Given the description of an element on the screen output the (x, y) to click on. 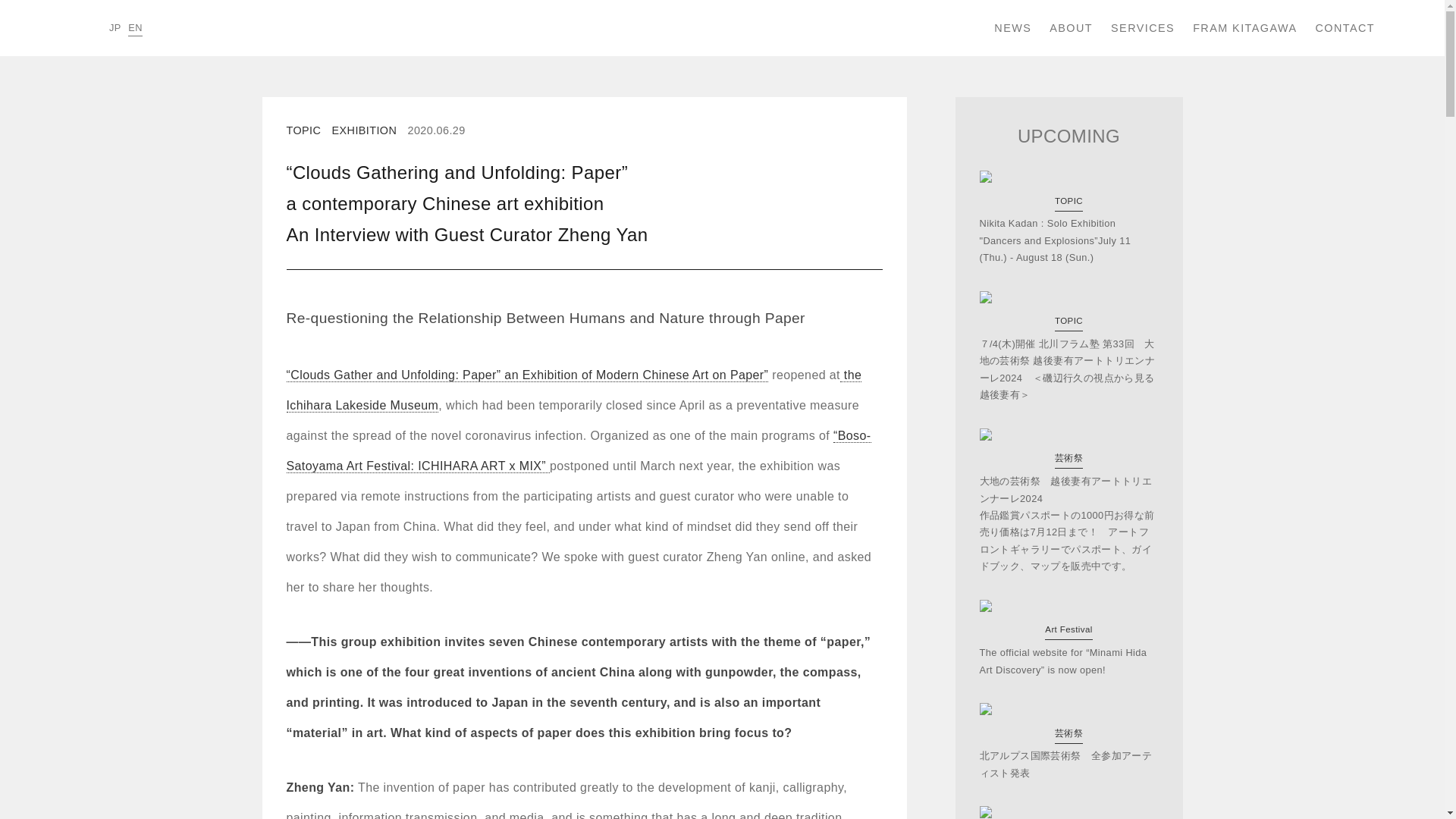
TOPIC (303, 130)
FRAM KITAGAWA (1244, 27)
EXHIBITION (364, 130)
CONTACT (1344, 27)
ABOUT (1071, 27)
SERVICES (1142, 27)
the Ichihara Lakeside Museum (573, 390)
